Given the description of an element on the screen output the (x, y) to click on. 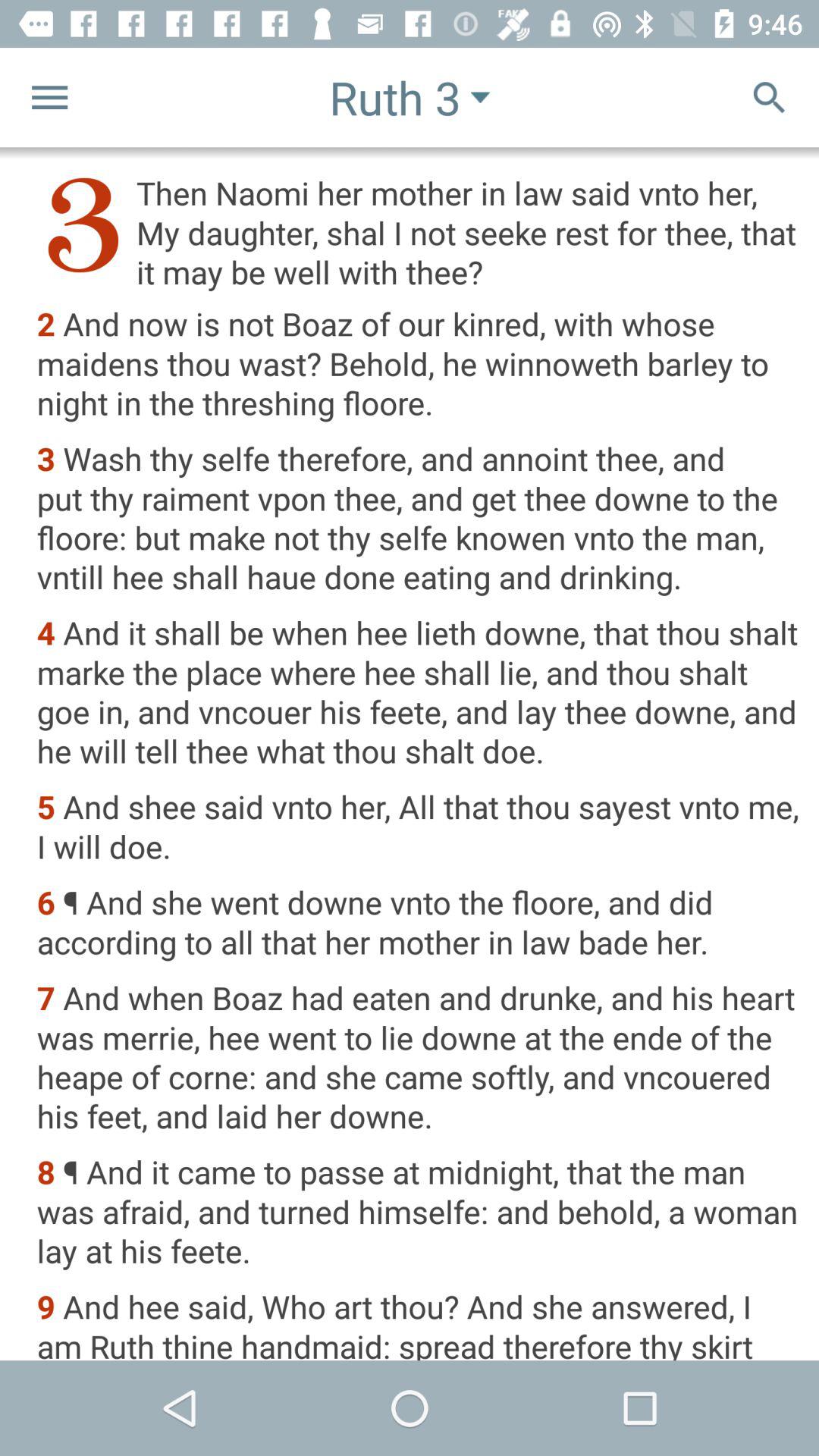
tap the 2 and now item (417, 365)
